Given the description of an element on the screen output the (x, y) to click on. 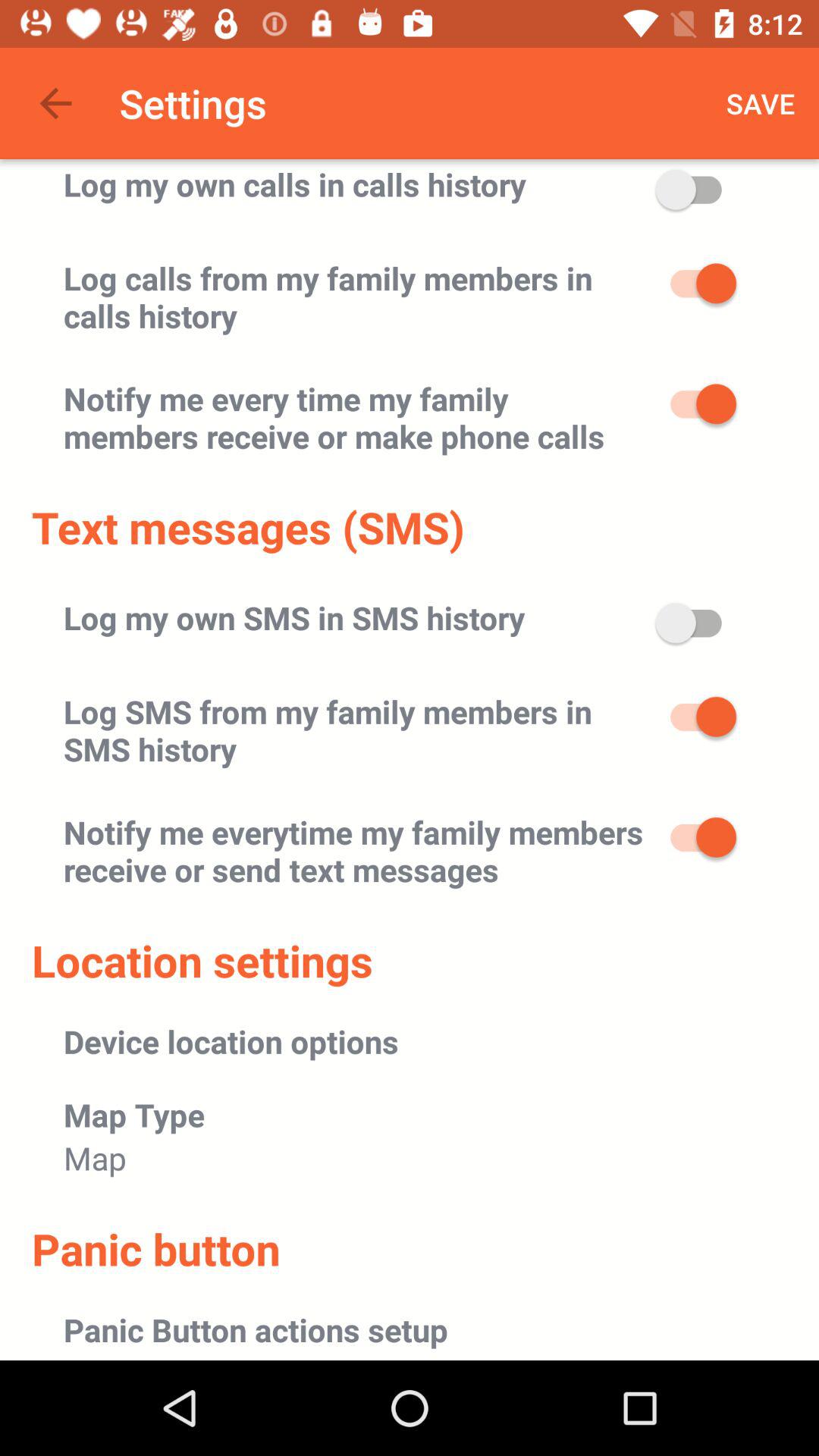
launch the map type icon (133, 1114)
